Given the description of an element on the screen output the (x, y) to click on. 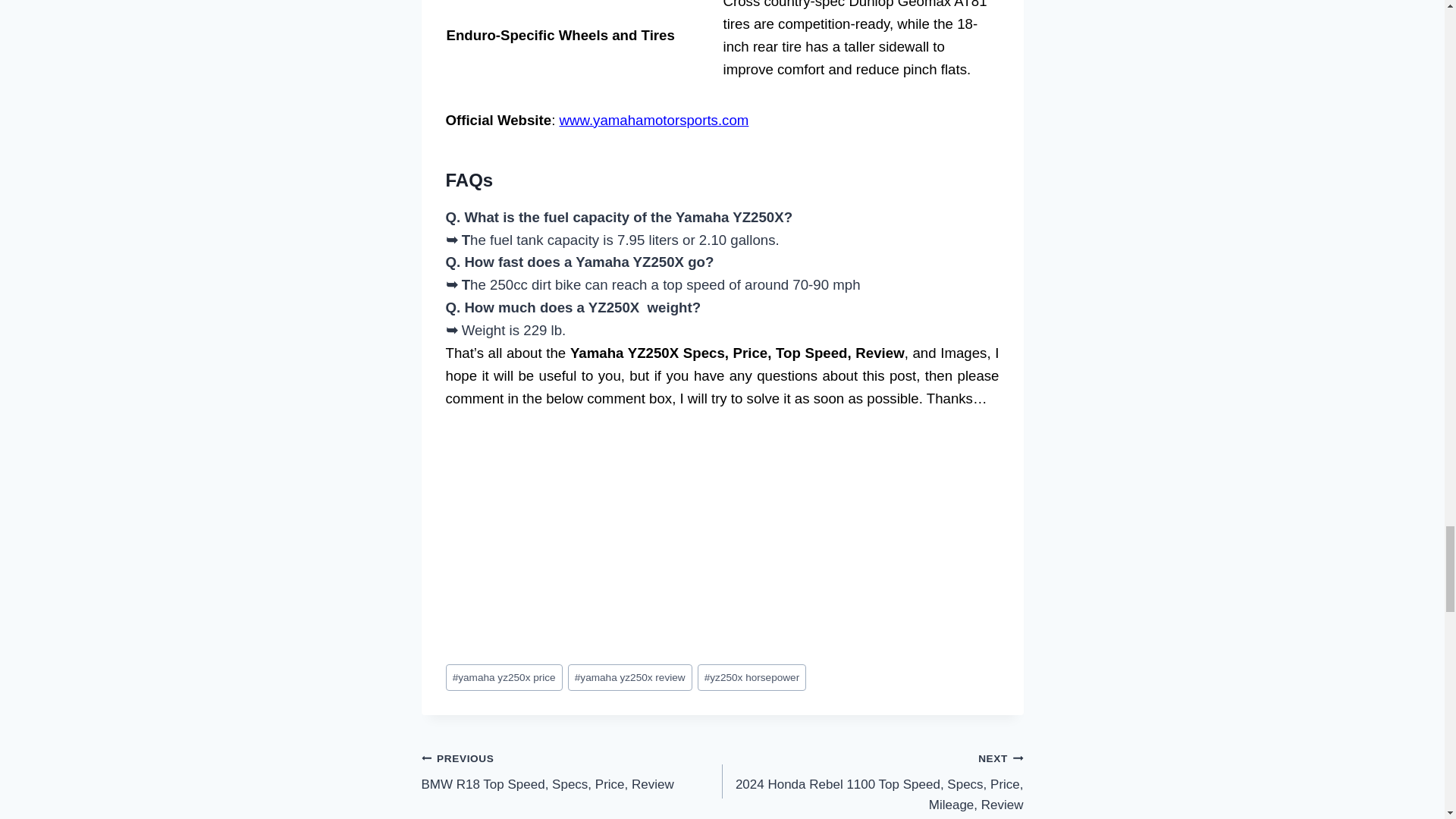
yamaha yz250x price (503, 677)
yz250x horsepower (751, 677)
www.yamahamotorsports.com (654, 119)
yamaha yz250x review (572, 771)
